Given the description of an element on the screen output the (x, y) to click on. 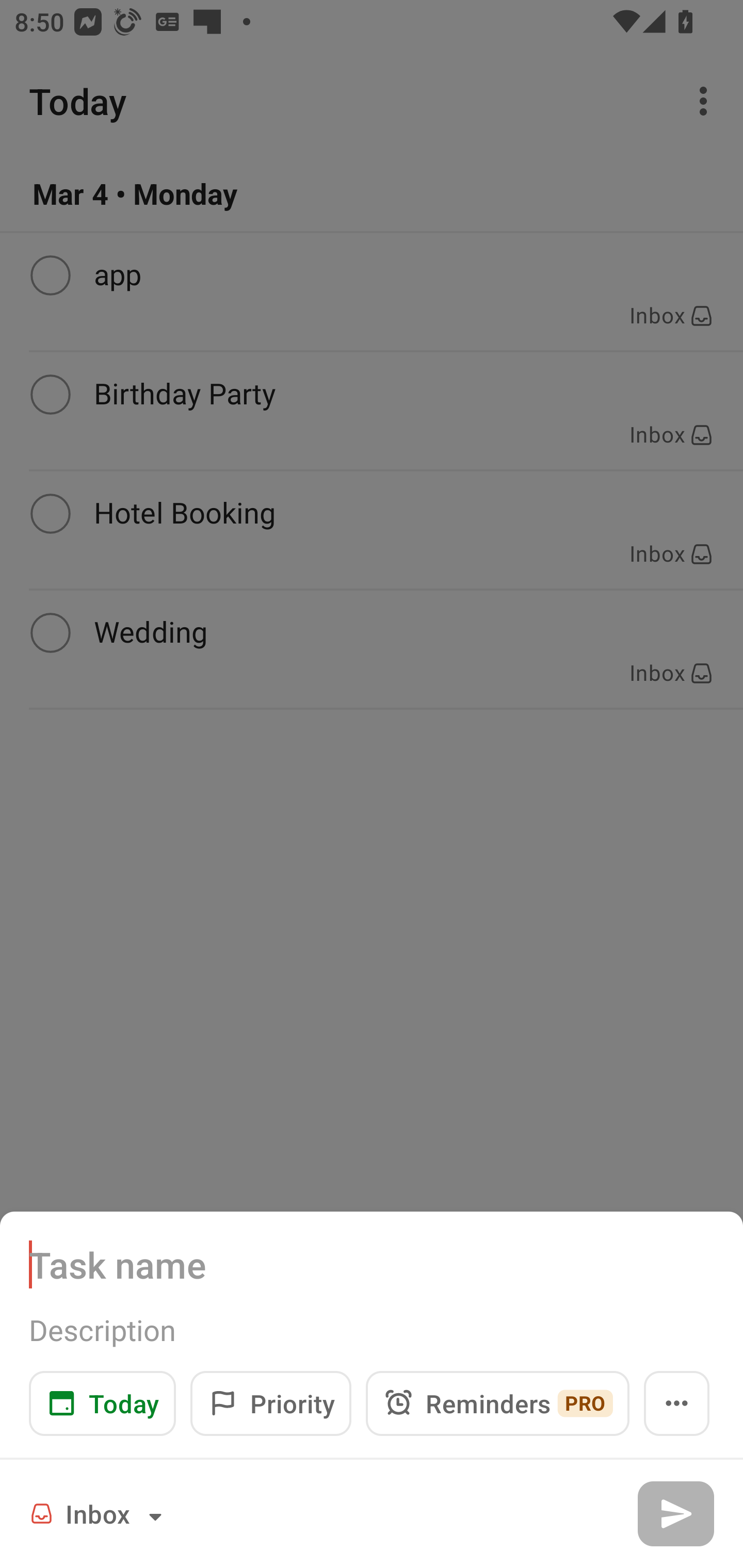
Task name (371, 1264)
Description (371, 1330)
Today Date (102, 1403)
Priority (270, 1403)
Reminders PRO Reminders (497, 1403)
Open menu (676, 1403)
Inbox Project (99, 1513)
Add (675, 1513)
